Given the description of an element on the screen output the (x, y) to click on. 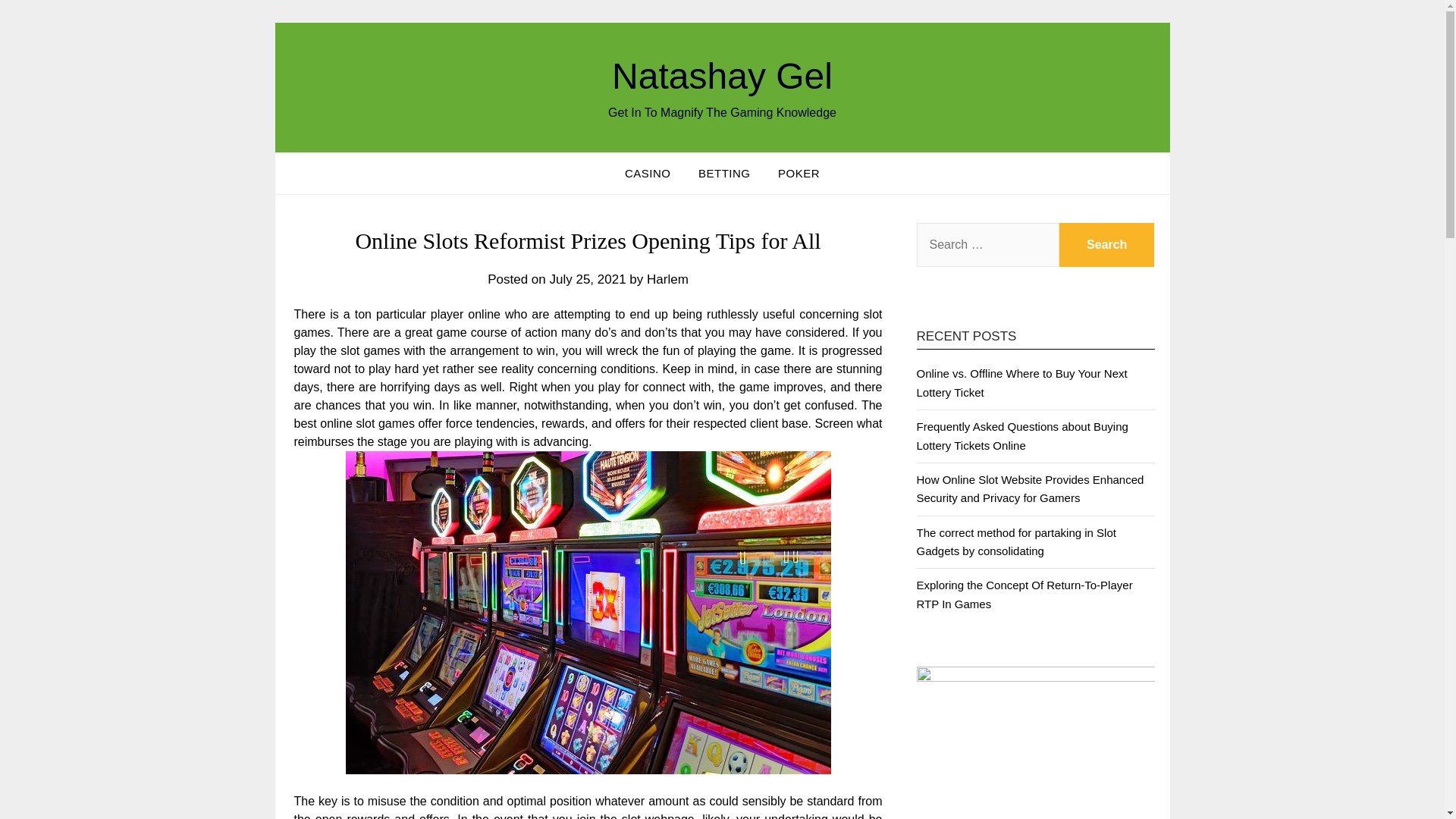
Exploring the Concept Of Return-To-Player RTP In Games (1023, 593)
Harlem (667, 278)
Online vs. Offline Where to Buy Your Next Lottery Ticket (1020, 382)
CASINO (647, 173)
July 25, 2021 (587, 278)
Natashay Gel (721, 76)
POKER (798, 173)
